Given the description of an element on the screen output the (x, y) to click on. 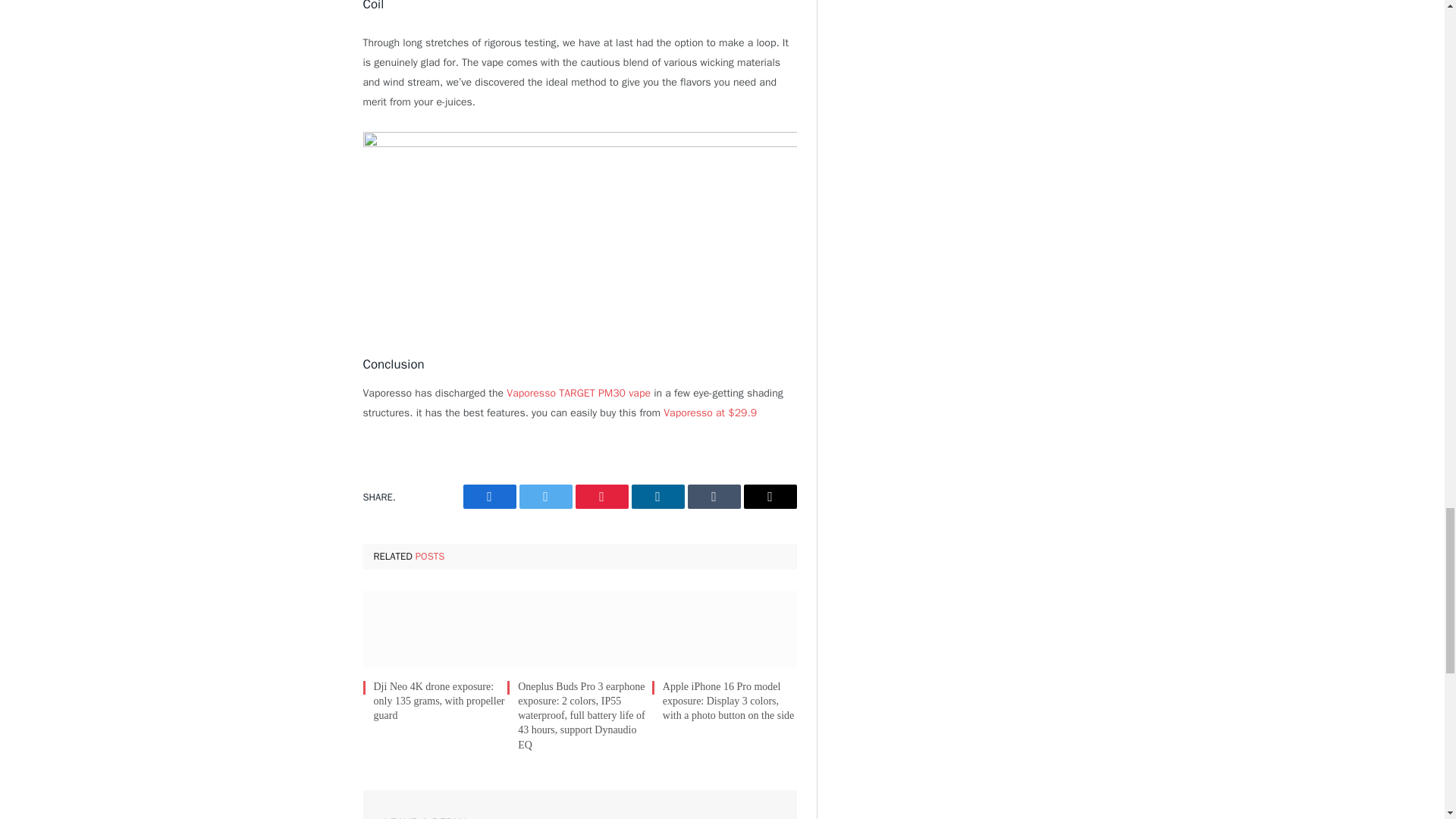
Share on Pinterest (601, 496)
Share on Twitter (545, 496)
Share on Facebook (489, 496)
